Given the description of an element on the screen output the (x, y) to click on. 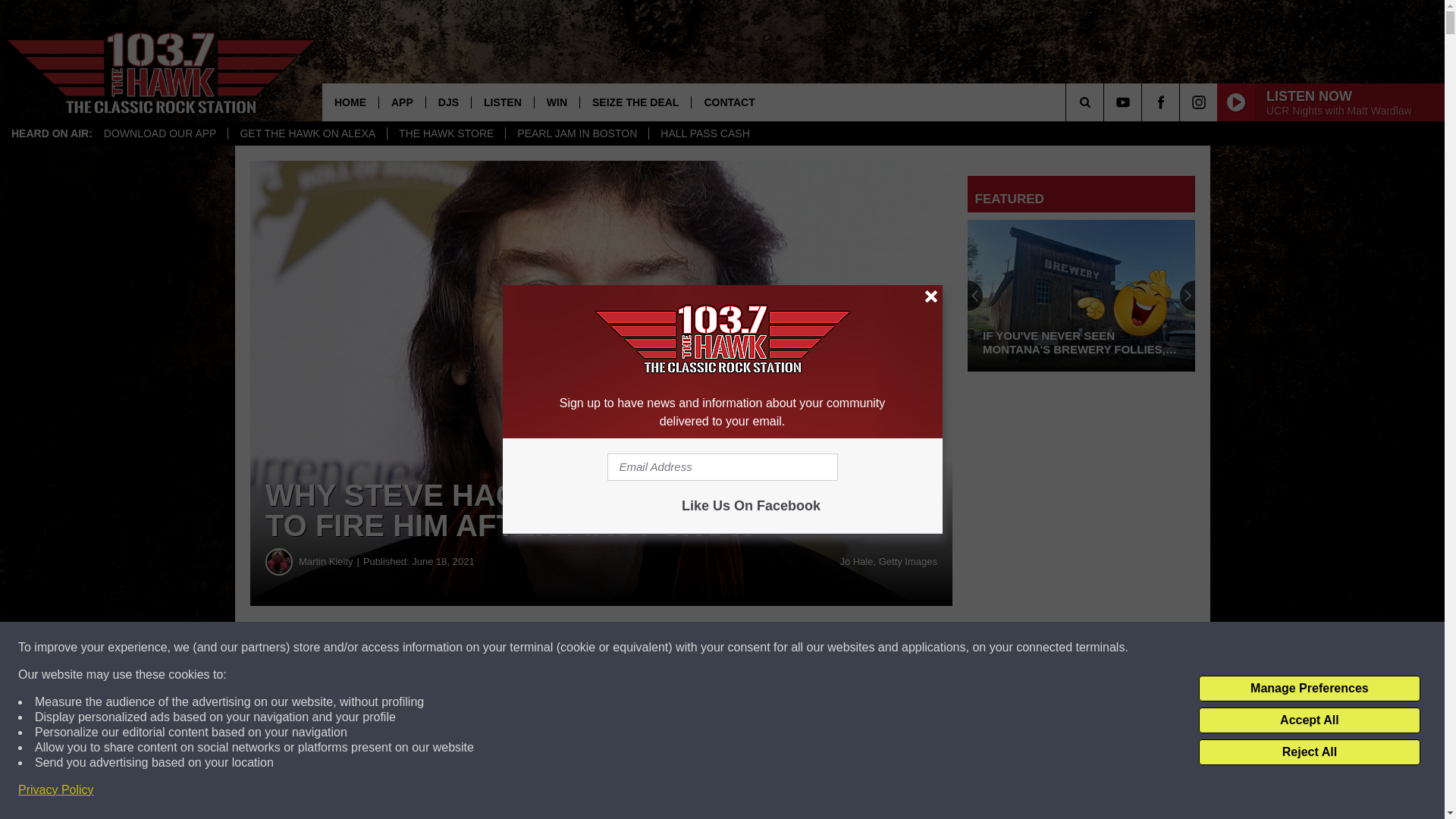
PEARL JAM IN BOSTON (576, 133)
Share on Twitter (741, 647)
HOME (349, 102)
Reject All (1309, 751)
LISTEN (502, 102)
SEARCH (1106, 102)
DJS (447, 102)
WIN (556, 102)
SEIZE THE DEAL (634, 102)
GET THE HAWK ON ALEXA (307, 133)
APP (401, 102)
DOWNLOAD OUR APP (160, 133)
THE HAWK STORE (446, 133)
Privacy Policy (55, 789)
HALL PASS CASH (704, 133)
